Given the description of an element on the screen output the (x, y) to click on. 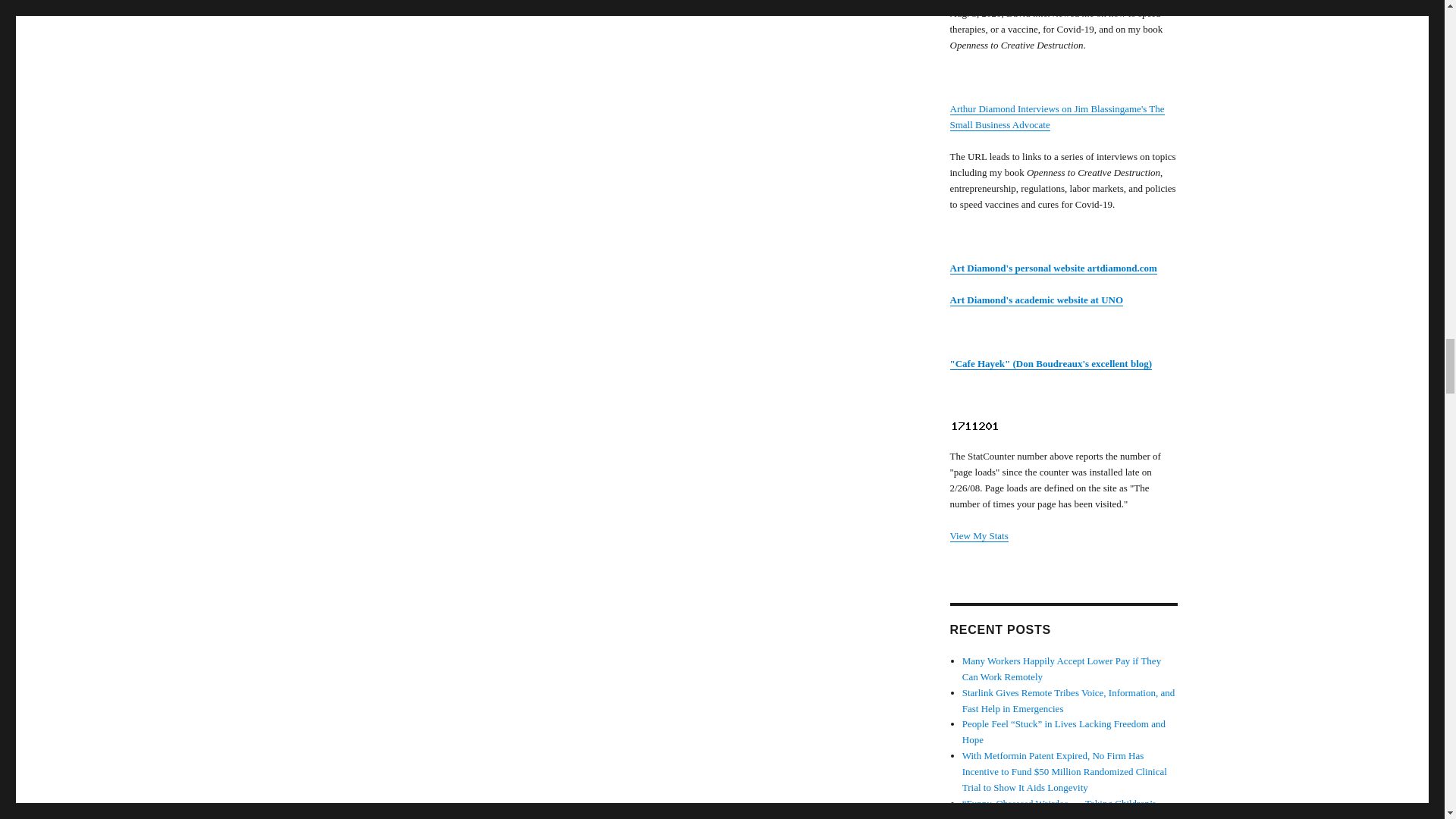
View My Stats (978, 535)
Art Diamond's personal website artdiamond.com (1052, 267)
Art Diamond's academic website at UNO (1035, 299)
